Given the description of an element on the screen output the (x, y) to click on. 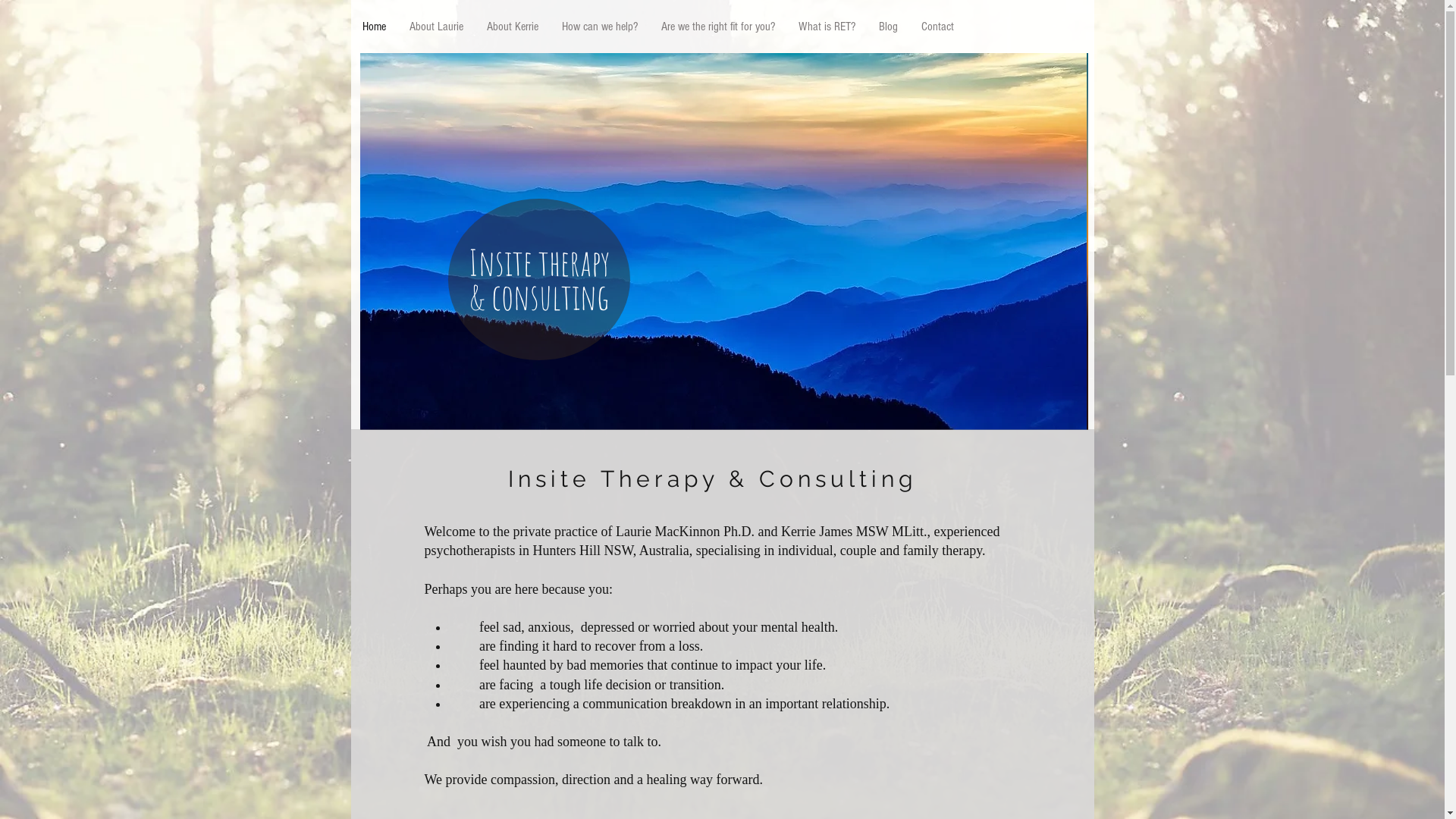
Blog Element type: text (887, 26)
About Laurie Element type: text (435, 26)
How can we help? Element type: text (598, 26)
Home Element type: text (373, 26)
What is RET? Element type: text (825, 26)
Are we the right fit for you? Element type: text (717, 26)
About Kerrie Element type: text (511, 26)
Contact Element type: text (936, 26)
